Given the description of an element on the screen output the (x, y) to click on. 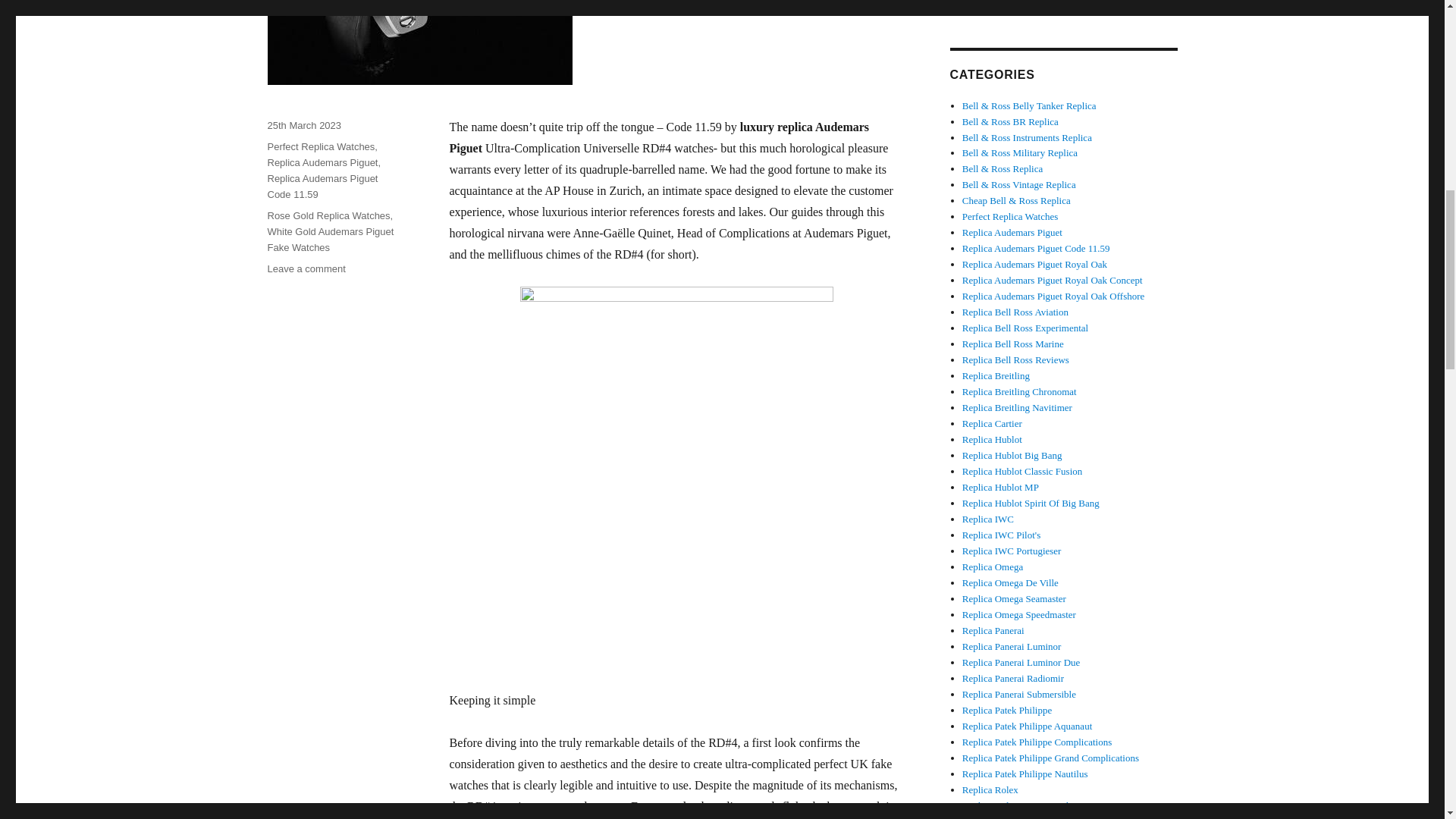
25th March 2023 (303, 125)
Replica Audemars Piguet (1012, 232)
Replica Bell Ross Experimental (1024, 327)
White Gold Audemars Piguet Fake Watches (329, 239)
Perfect Replica Watches (320, 146)
Replica Audemars Piguet Code 11.59 (1035, 247)
Perfect Replica Watches (1010, 215)
Replica Bell Ross Aviation (1015, 311)
Rose Gold Replica Watches (328, 215)
Replica Audemars Piguet Royal Oak Concept (1052, 279)
Replica Audemars Piguet (321, 162)
Replica Audemars Piguet Royal Oak (1034, 264)
Replica Audemars Piguet Code 11.59 (321, 185)
Replica Audemars Piguet Royal Oak Offshore (1053, 296)
Replica Bell Ross Marine (1013, 343)
